Given the description of an element on the screen output the (x, y) to click on. 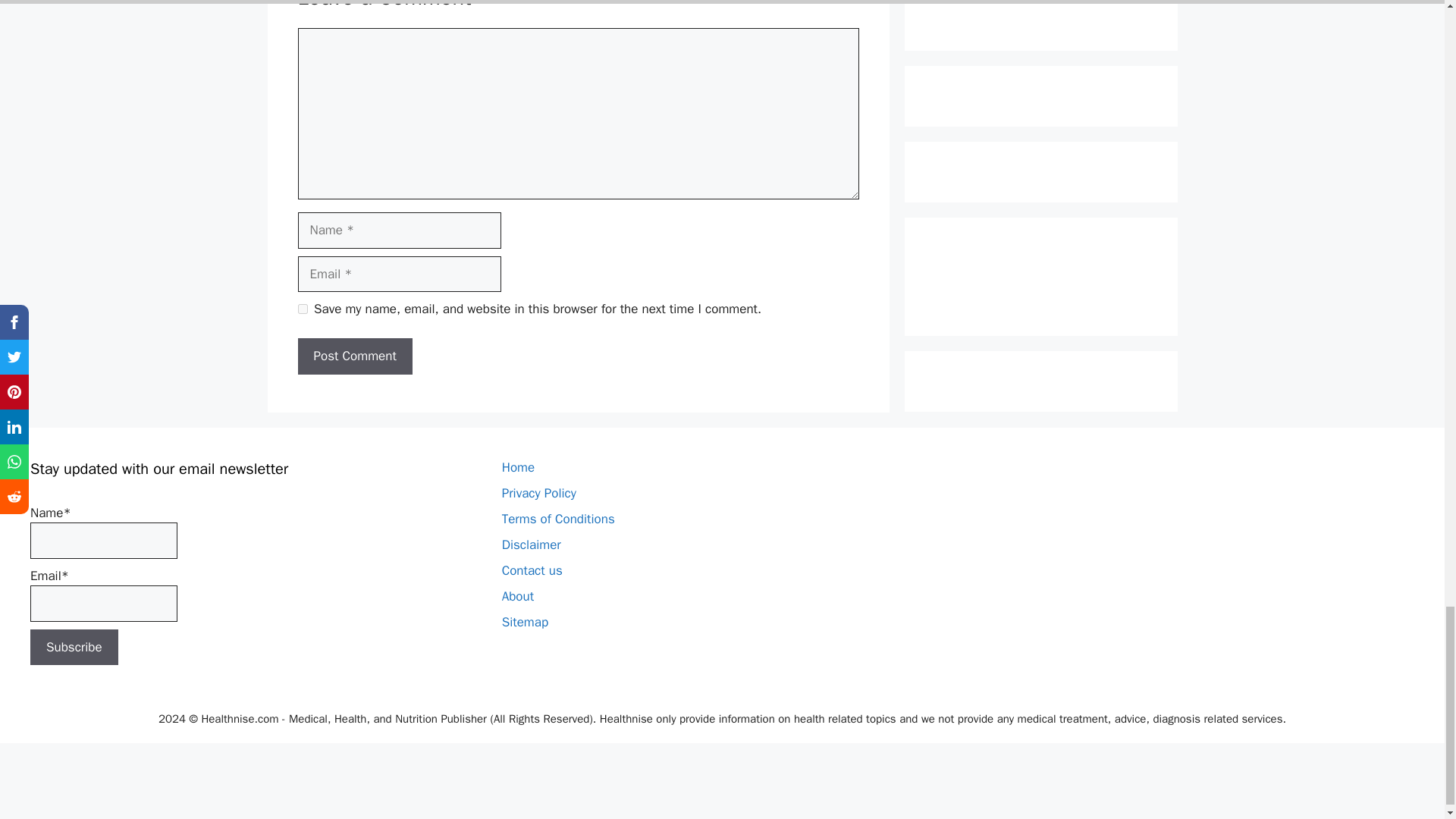
yes (302, 308)
Post Comment (354, 356)
Subscribe (73, 647)
